Given the description of an element on the screen output the (x, y) to click on. 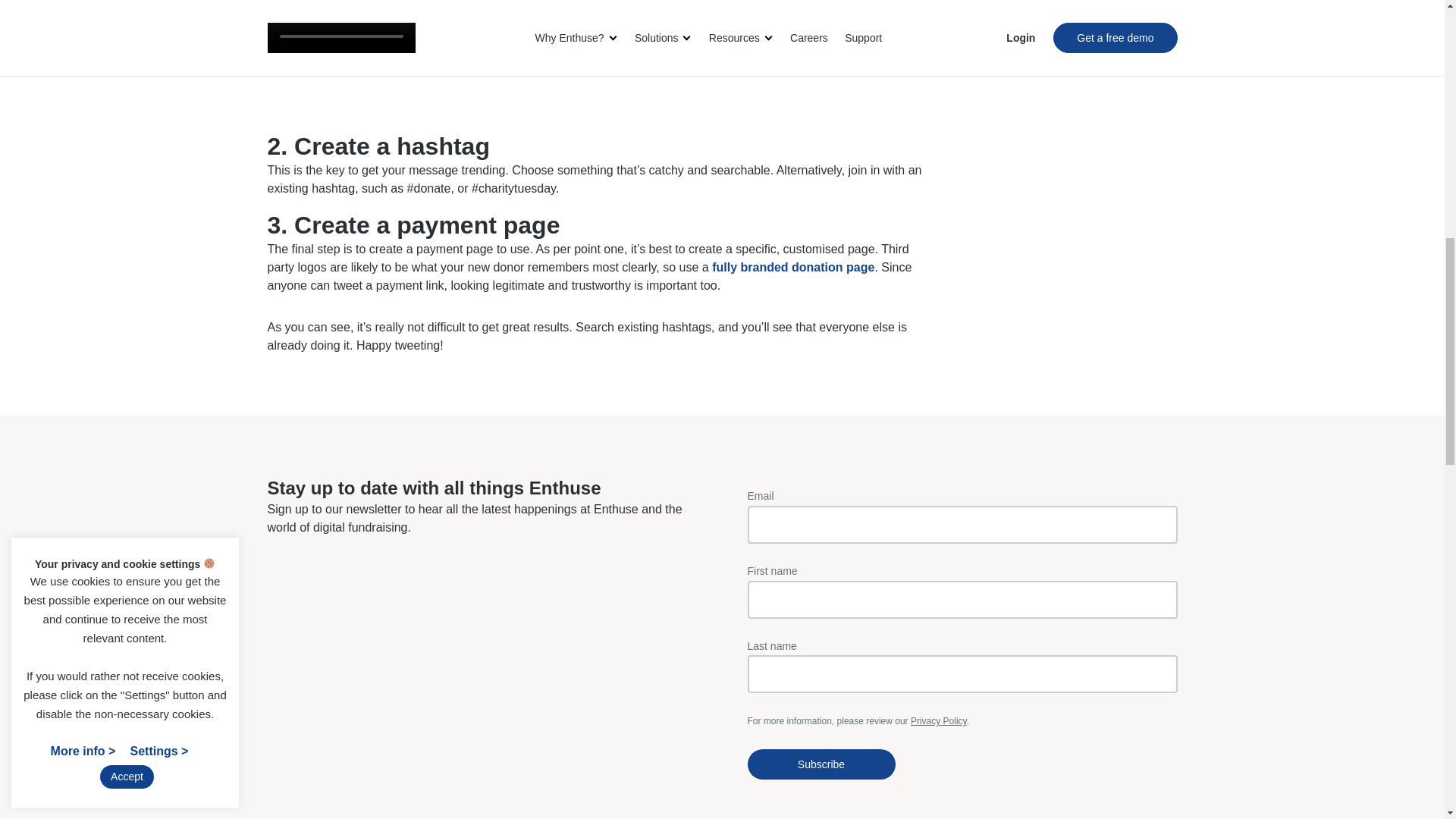
Privacy Policy (938, 720)
Subscribe (821, 764)
Subscribe (821, 764)
fully branded donation page (793, 267)
